Given the description of an element on the screen output the (x, y) to click on. 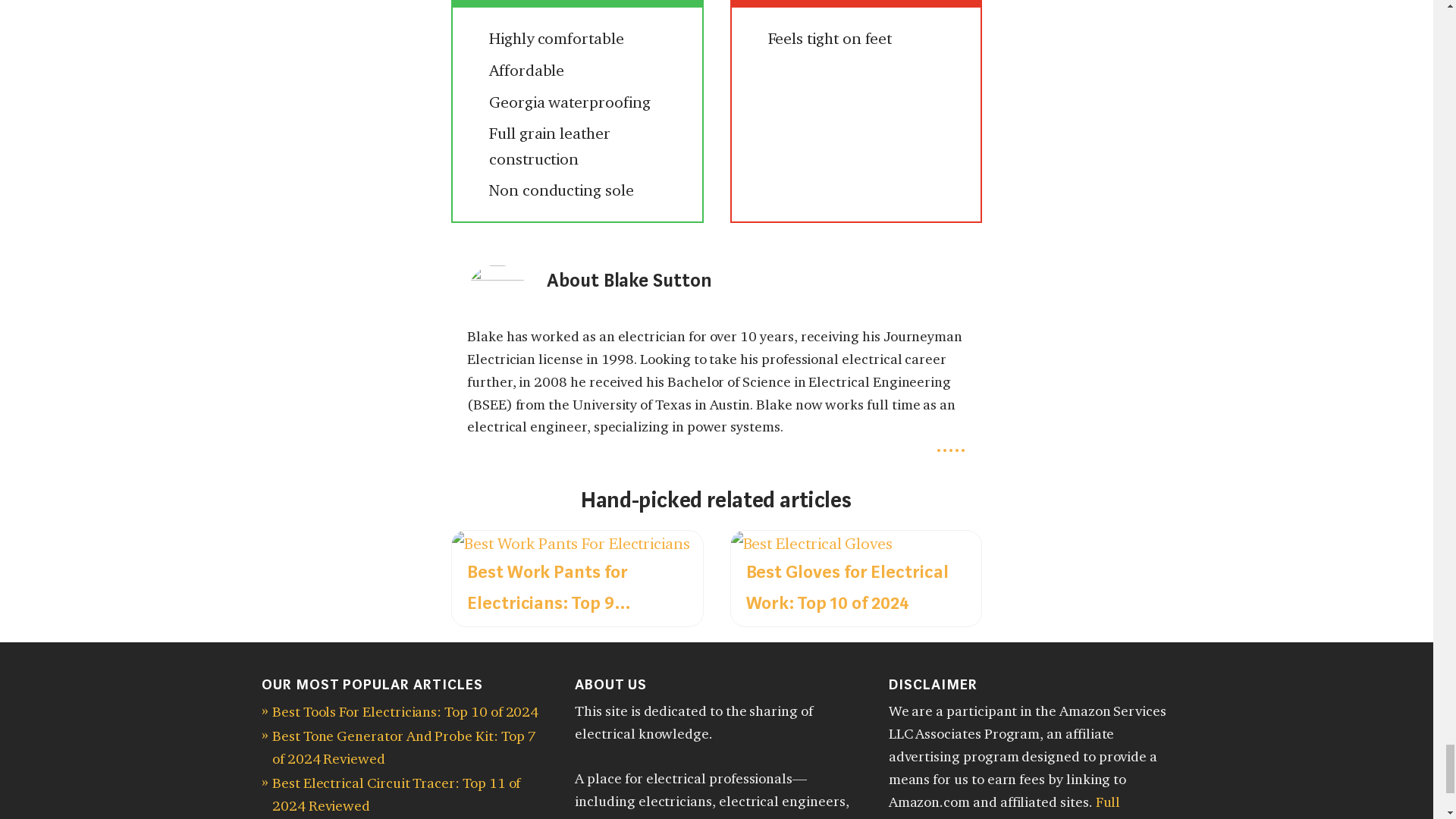
Best Gloves for Electrical Work: Top 10 of 2024 (811, 543)
Best Work Pants for Electricians: Top 9 Picks of 2024 (570, 543)
Read more (951, 444)
